Given the description of an element on the screen output the (x, y) to click on. 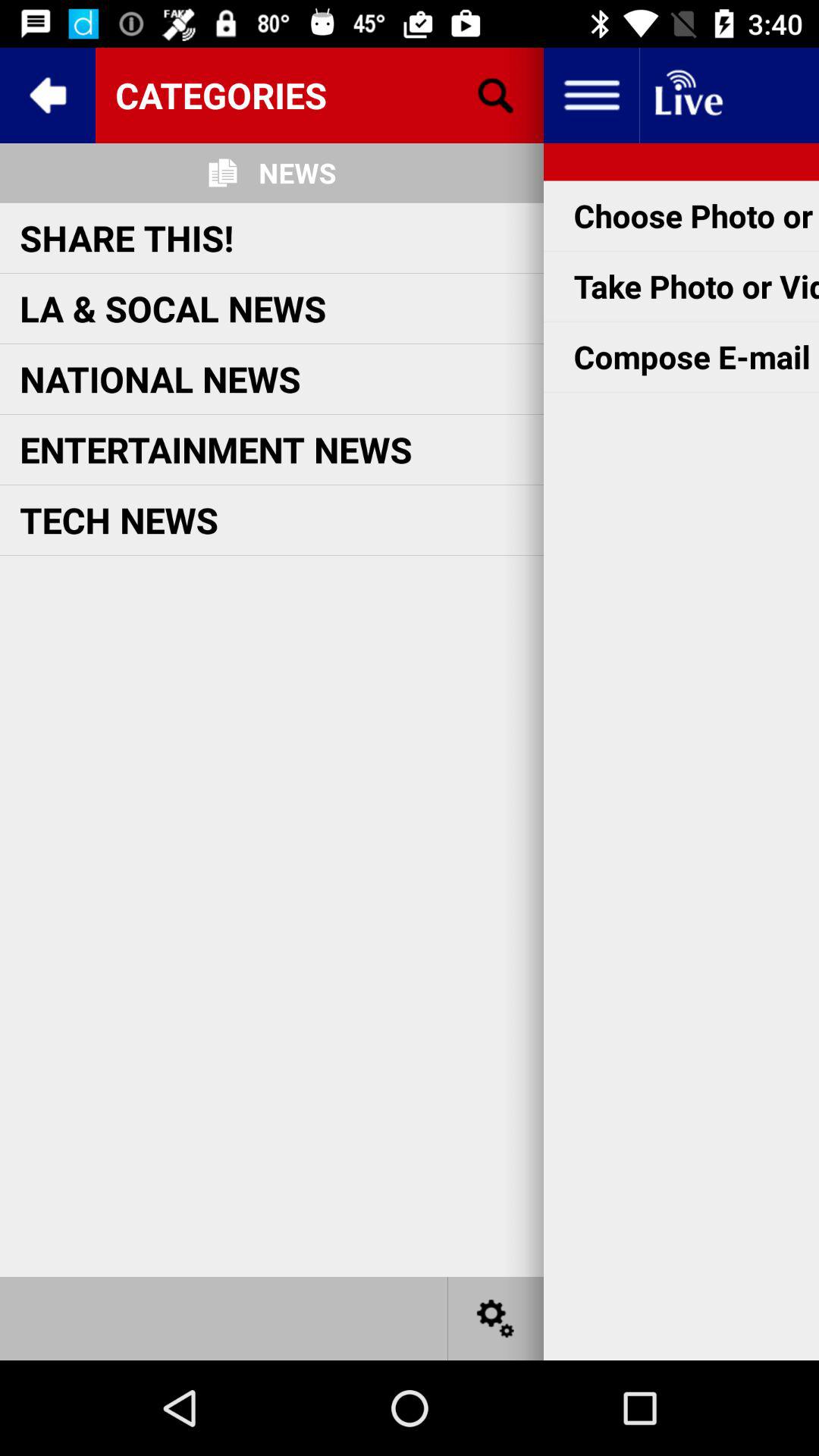
swipe until the tech news item (118, 519)
